Given the description of an element on the screen output the (x, y) to click on. 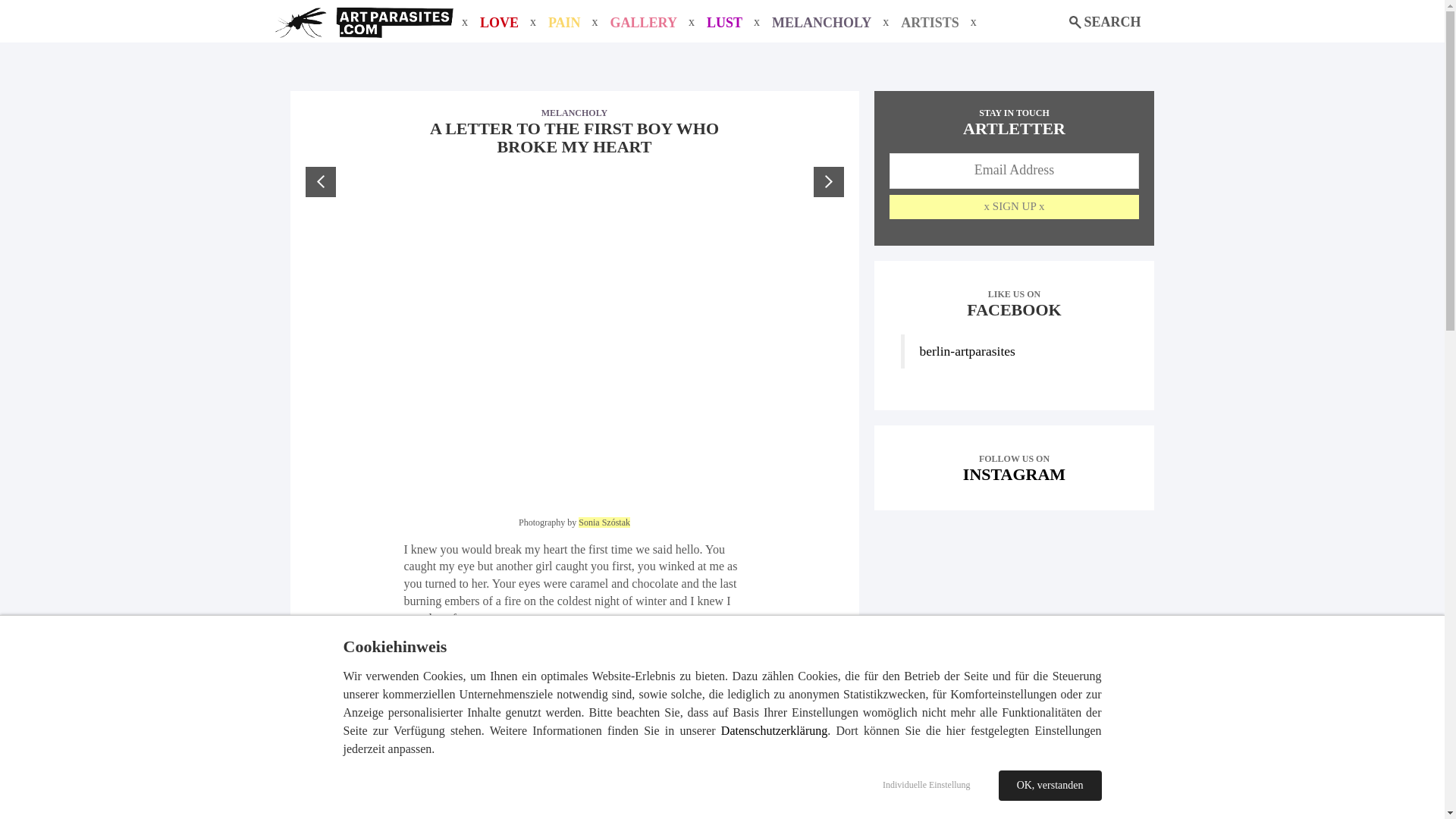
LOVE (498, 22)
artists (928, 22)
pain (1014, 468)
next (563, 22)
lust (827, 182)
GALLERY (724, 22)
PAIN (643, 22)
MELANCHOLY (563, 22)
OK, verstanden (821, 22)
